Given the description of an element on the screen output the (x, y) to click on. 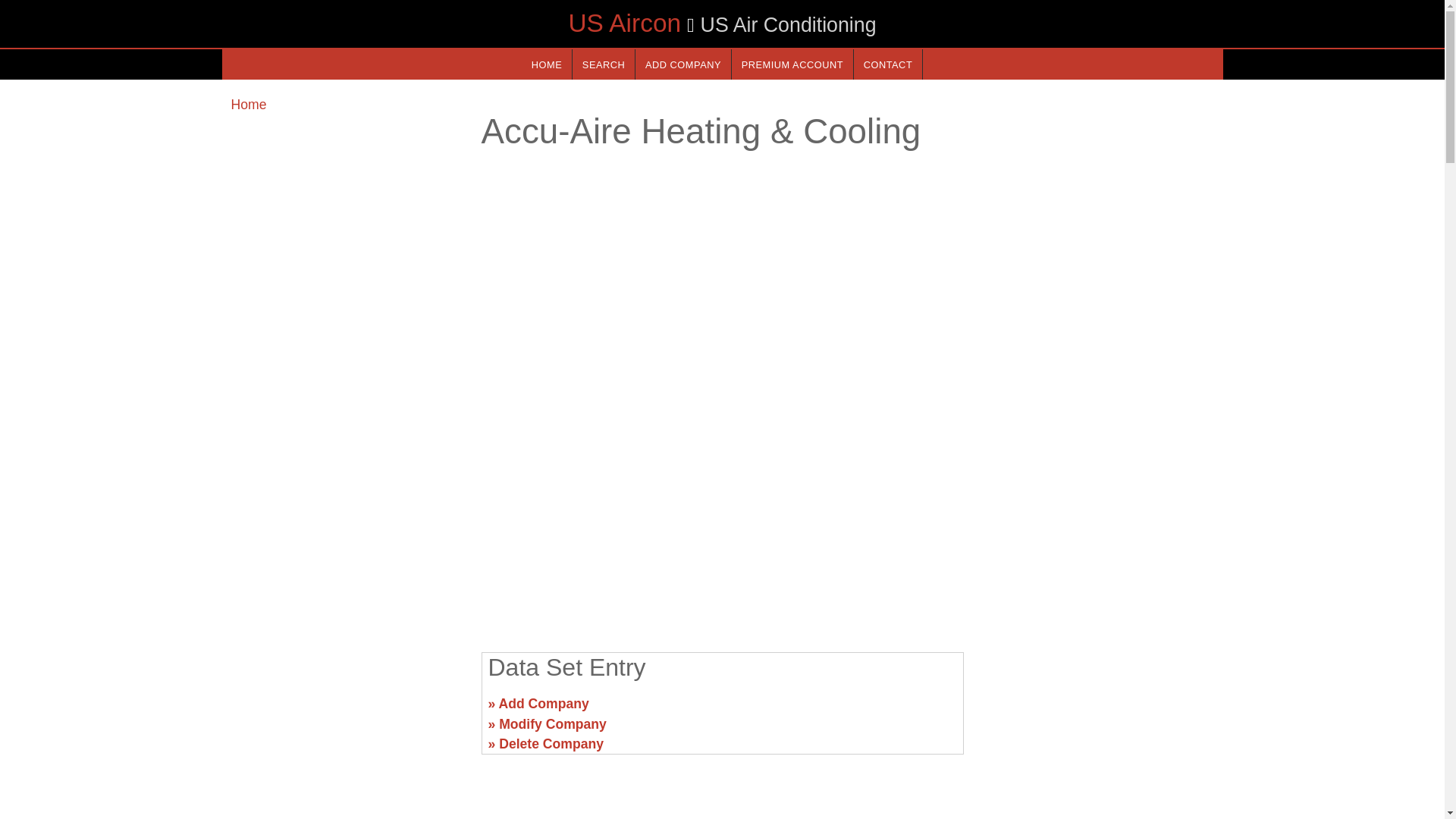
Home (248, 104)
Search in this webseite. (603, 64)
CONTACT (887, 64)
Advertisement (721, 522)
US Aircon (624, 22)
Add a new company (682, 64)
Advertisement (346, 710)
SEARCH (603, 64)
PREMIUM ACCOUNT (792, 64)
ADD COMPANY (682, 64)
Premium account (792, 64)
HOME (546, 64)
Advertisement (1096, 710)
